Given the description of an element on the screen output the (x, y) to click on. 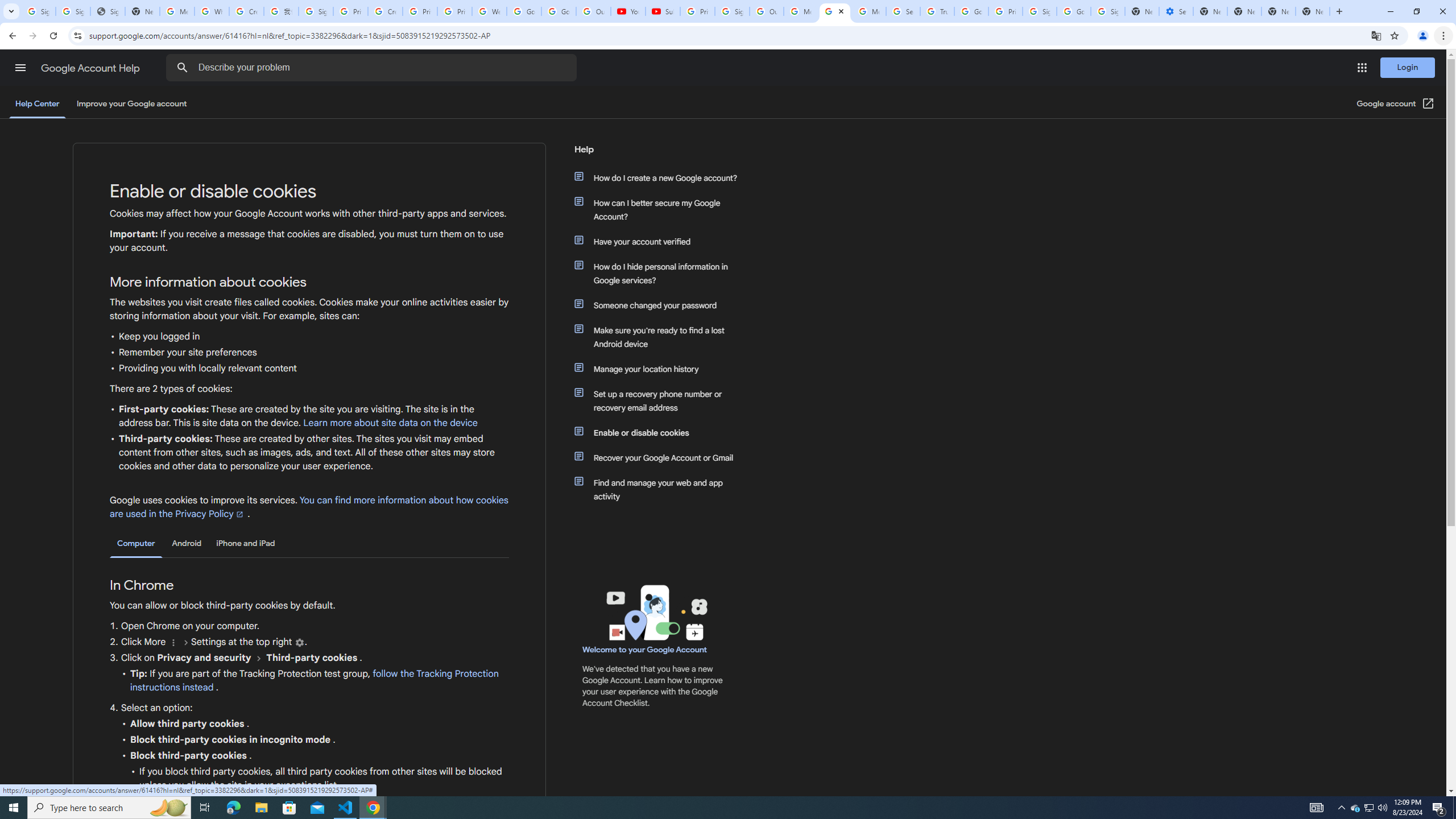
Computer (136, 543)
Institutions (299, 642)
How do I hide personal information in Google services? (661, 273)
How do I create a new Google account? (661, 177)
Enable or disable cookies (661, 432)
Sign in - Google Accounts (1039, 11)
Android (186, 542)
Find and manage your web and app activity (661, 489)
Improve your Google account (131, 103)
Learn more about site data on the device (390, 423)
